Given the description of an element on the screen output the (x, y) to click on. 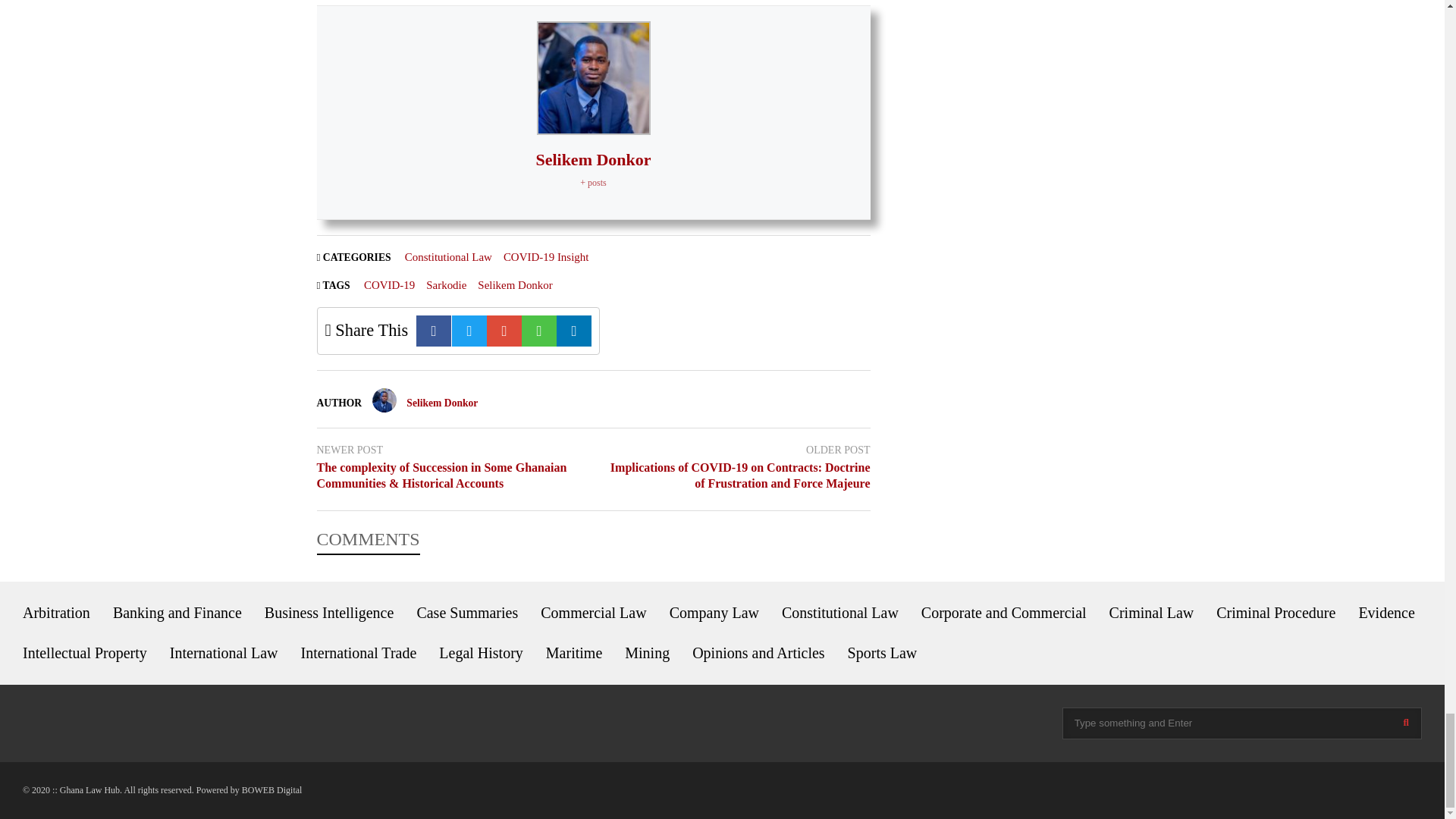
Google-plus (503, 330)
Twitter (468, 330)
Facebook (433, 330)
